Given the description of an element on the screen output the (x, y) to click on. 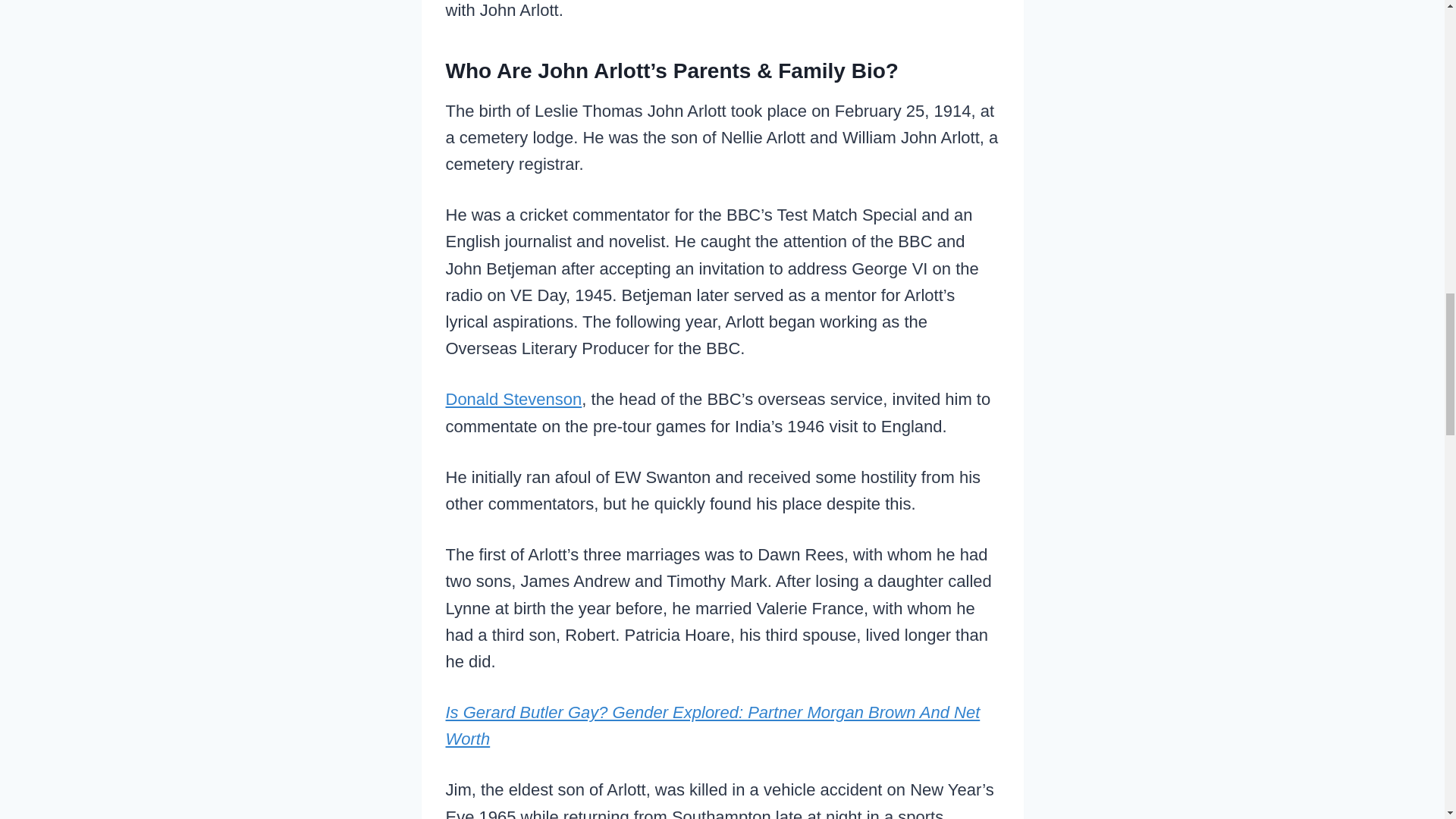
Donald Stevenson (513, 398)
